Given the description of an element on the screen output the (x, y) to click on. 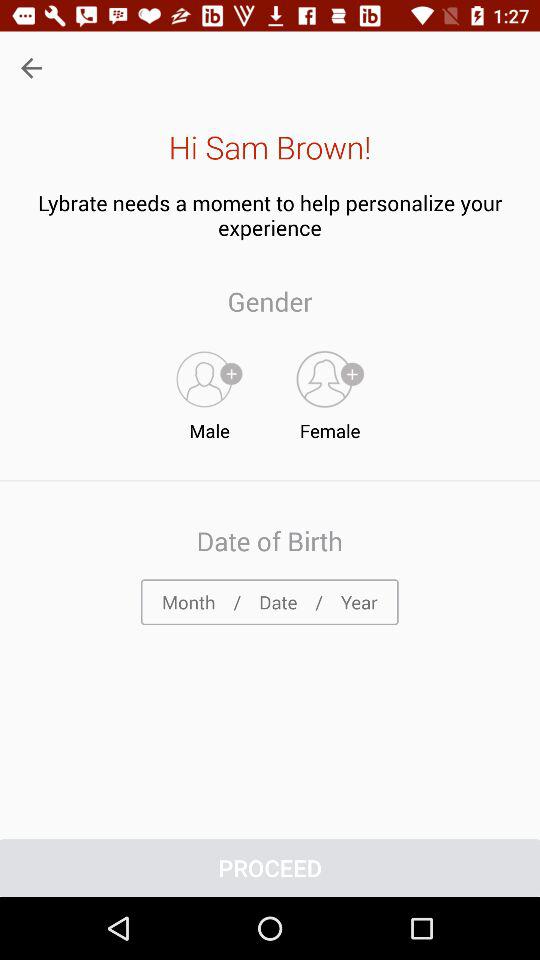
clique aqui para adicionar a sua idade (269, 602)
